Given the description of an element on the screen output the (x, y) to click on. 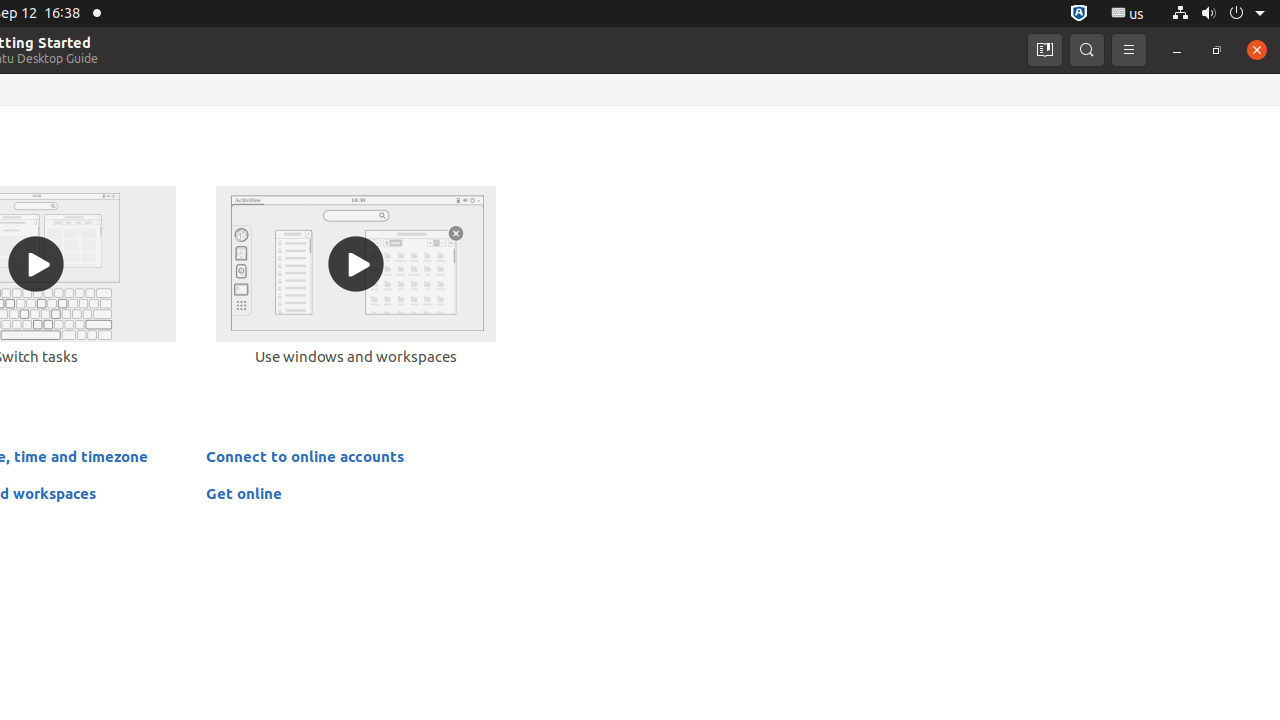
Close Element type: push-button (1257, 50)
Use windows and workspaces Element type: link (356, 275)
